Given the description of an element on the screen output the (x, y) to click on. 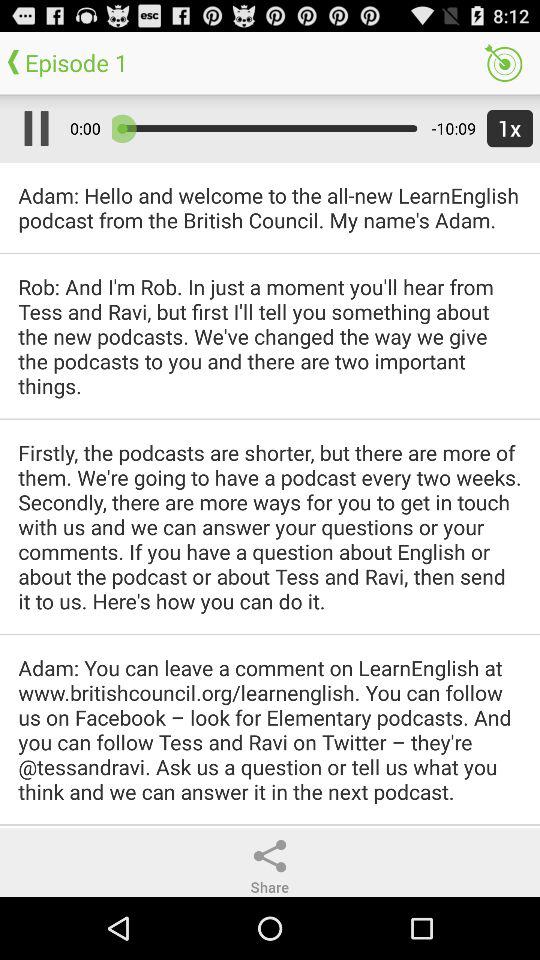
turn on item to the left of 0:00 app (32, 128)
